Given the description of an element on the screen output the (x, y) to click on. 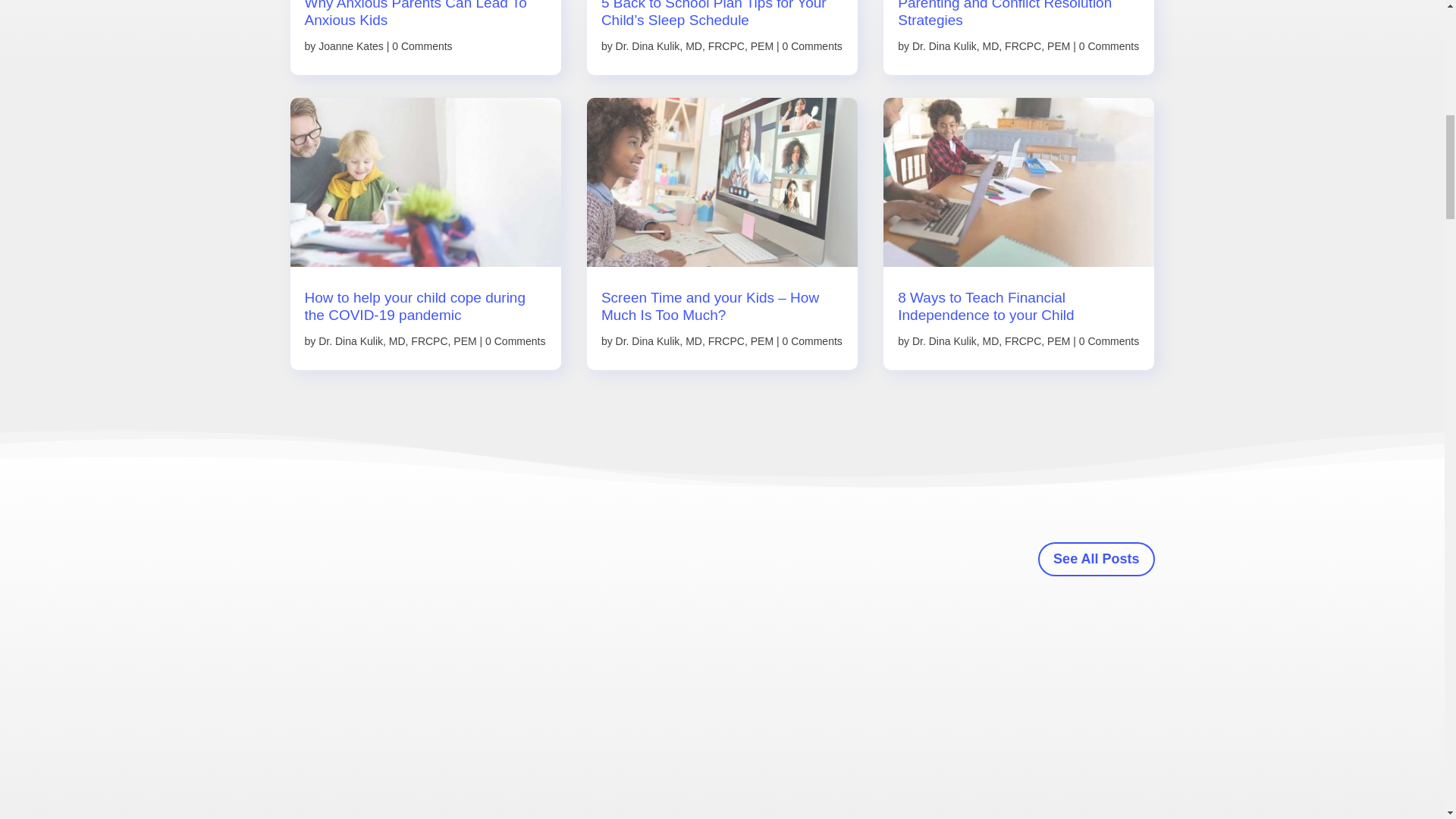
Posts by Dr. Dina Kulik, MD, FRCPC, PEM (694, 46)
Posts by Joanne Kates (351, 46)
Posts by Dr. Dina Kulik, MD, FRCPC, PEM (991, 46)
Posts by Dr. Dina Kulik, MD, FRCPC, PEM (694, 340)
Posts by Dr. Dina Kulik, MD, FRCPC, PEM (991, 340)
Posts by Dr. Dina Kulik, MD, FRCPC, PEM (397, 340)
